Given the description of an element on the screen output the (x, y) to click on. 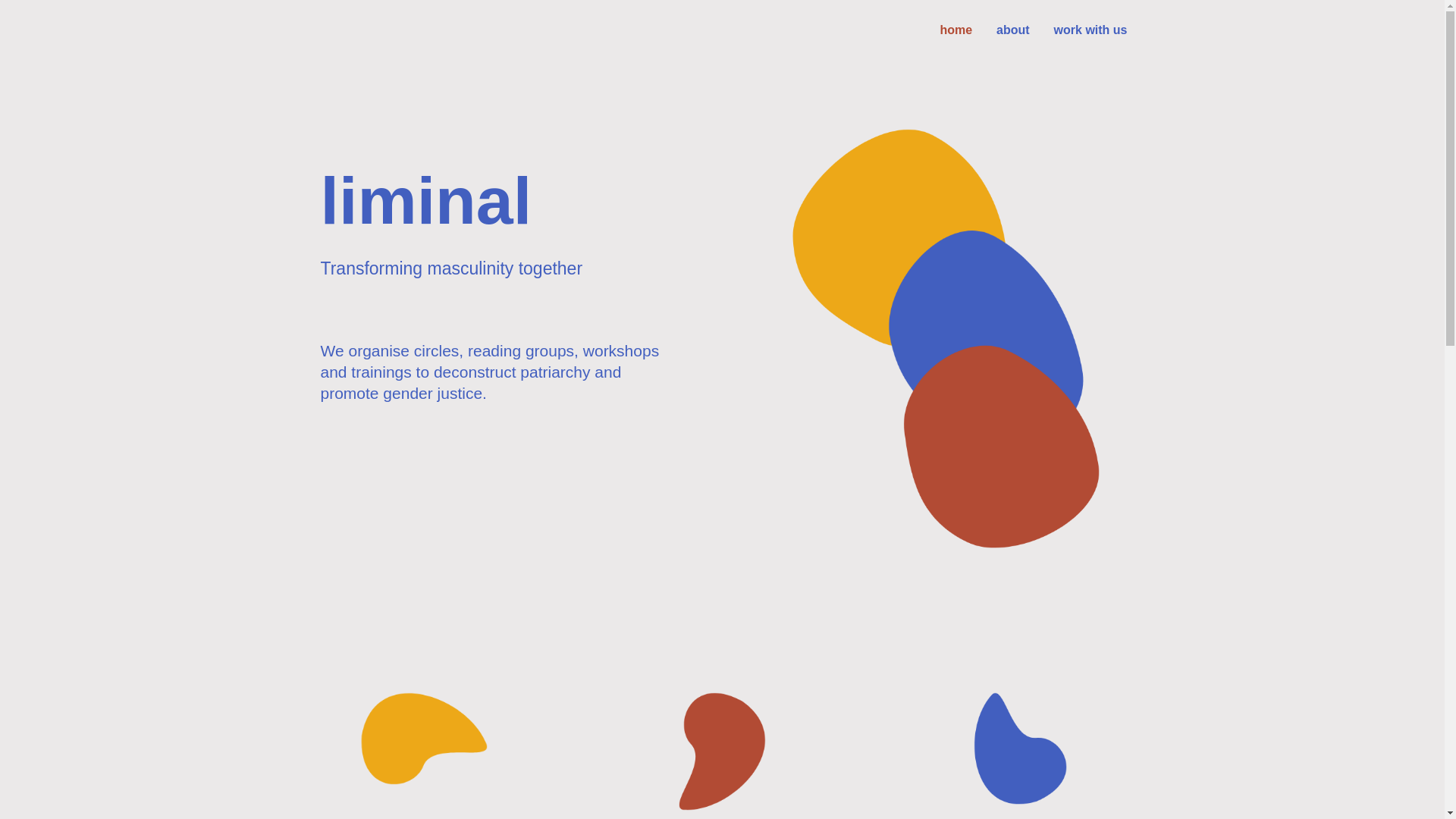
home Element type: text (955, 30)
logo homepage Element type: hover (945, 338)
work with us Element type: text (1090, 30)
about Element type: text (1012, 30)
